Given the description of an element on the screen output the (x, y) to click on. 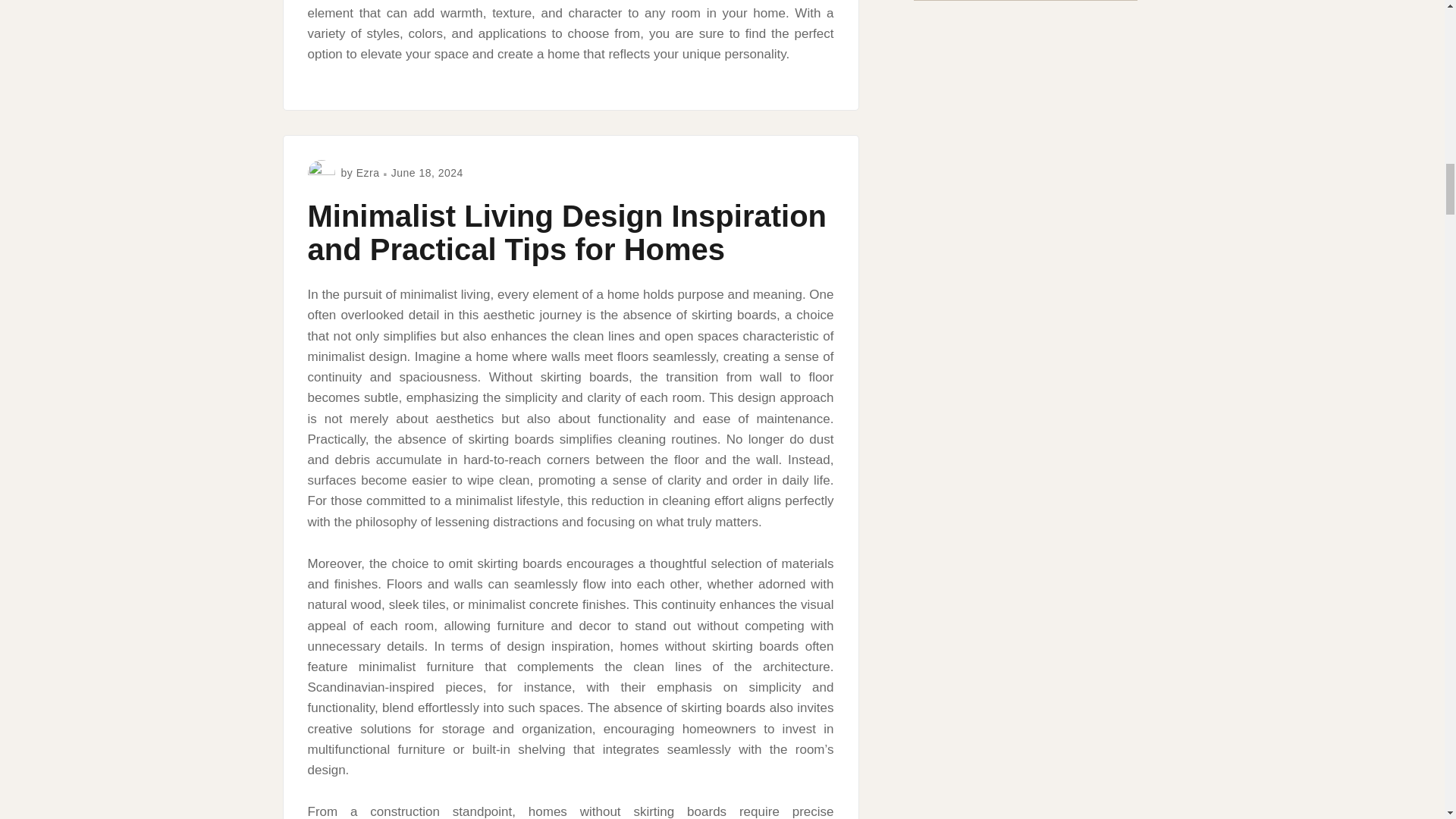
June 18, 2024 (427, 173)
Ezra (368, 173)
